Given the description of an element on the screen output the (x, y) to click on. 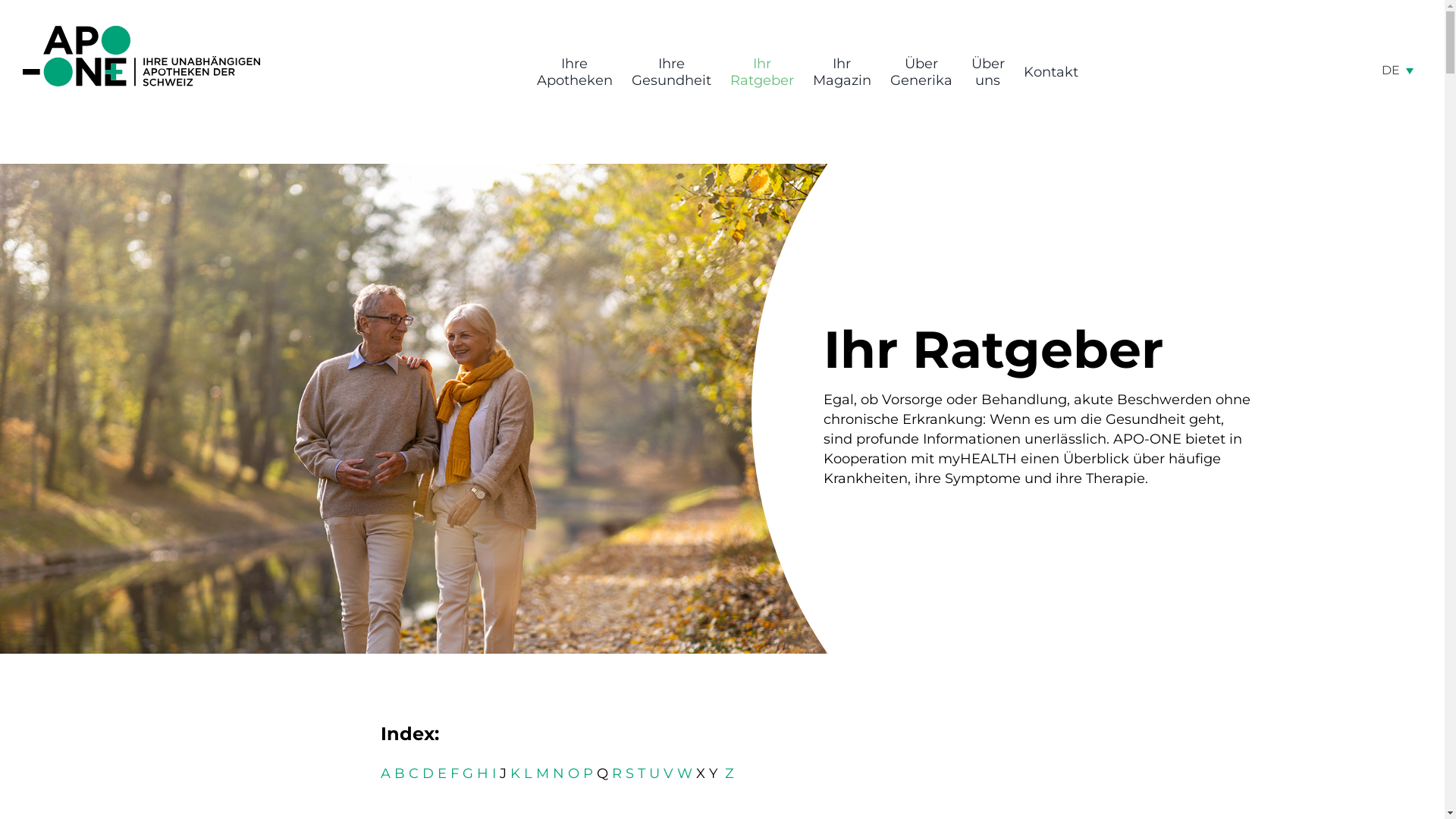
Ihre
Gesundheit Element type: text (670, 72)
G Element type: text (467, 773)
R Element type: text (616, 773)
E Element type: text (441, 773)
C Element type: text (413, 773)
Ihr
Magazin Element type: text (841, 72)
W Element type: text (684, 773)
T Element type: text (641, 773)
Ihre
Apotheken Element type: text (574, 72)
B Element type: text (399, 773)
A Element type: text (385, 773)
U Element type: text (654, 773)
L Element type: text (528, 773)
D Element type: text (427, 773)
Ihr
Ratgeber Element type: text (761, 72)
F Element type: text (454, 773)
I Element type: text (493, 773)
V Element type: text (668, 773)
P Element type: text (588, 773)
Kontakt Element type: text (1050, 72)
Z Element type: text (729, 773)
H Element type: text (482, 773)
DE Element type: text (1397, 70)
S Element type: text (629, 773)
M Element type: text (542, 773)
O Element type: text (573, 773)
N Element type: text (558, 773)
K Element type: text (515, 773)
